Given the description of an element on the screen output the (x, y) to click on. 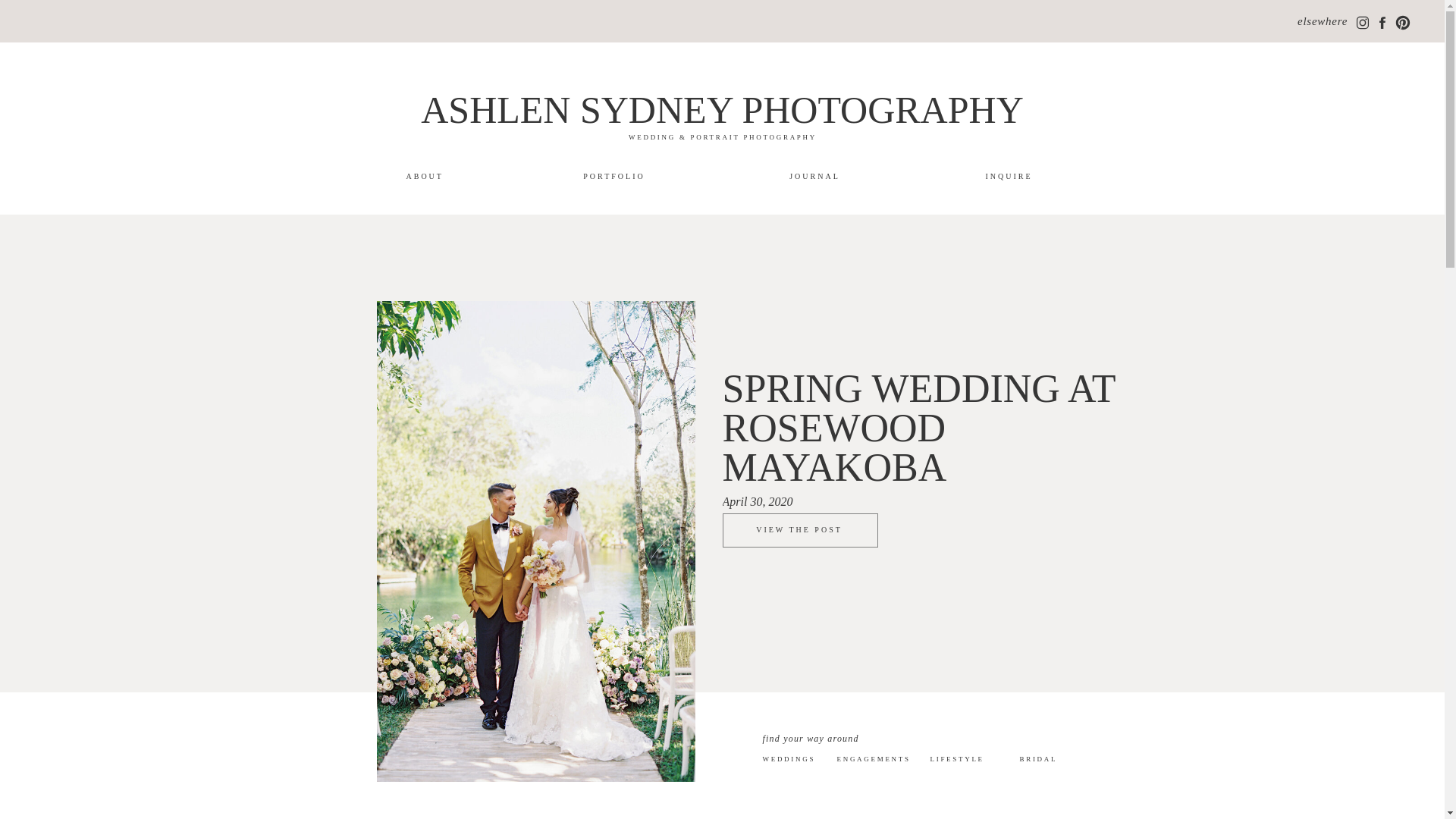
WEDDINGS (798, 763)
BRIDAL (1048, 765)
ABOUT (423, 176)
SPRING WEDDING AT ROSEWOOD MAYAKOBA (929, 427)
ASHLEN SYDNEY PHOTOGRAPHY (721, 107)
ENGAGEMENTS (867, 761)
JOURNAL (815, 176)
LIFESTYLE (968, 759)
PORTFOLIO (614, 176)
INQUIRE (1009, 176)
VIEW THE POST (799, 532)
